Given the description of an element on the screen output the (x, y) to click on. 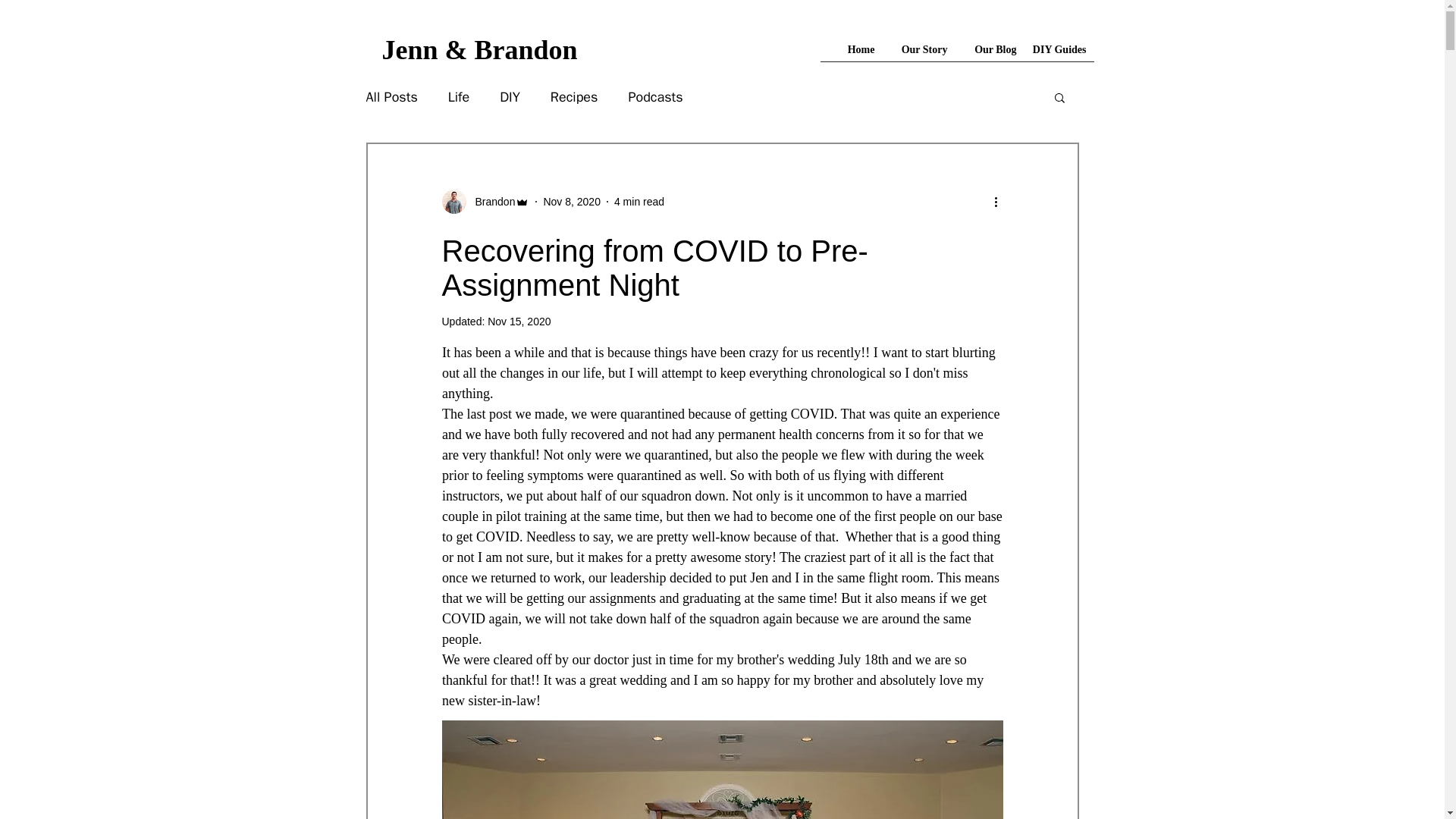
All Posts (390, 96)
4 min read (638, 201)
Our Blog (990, 49)
Nov 15, 2020 (518, 321)
Home (859, 49)
Recipes (574, 96)
Our Story (918, 49)
DIY (509, 96)
Life (458, 96)
Podcasts (654, 96)
